Given the description of an element on the screen output the (x, y) to click on. 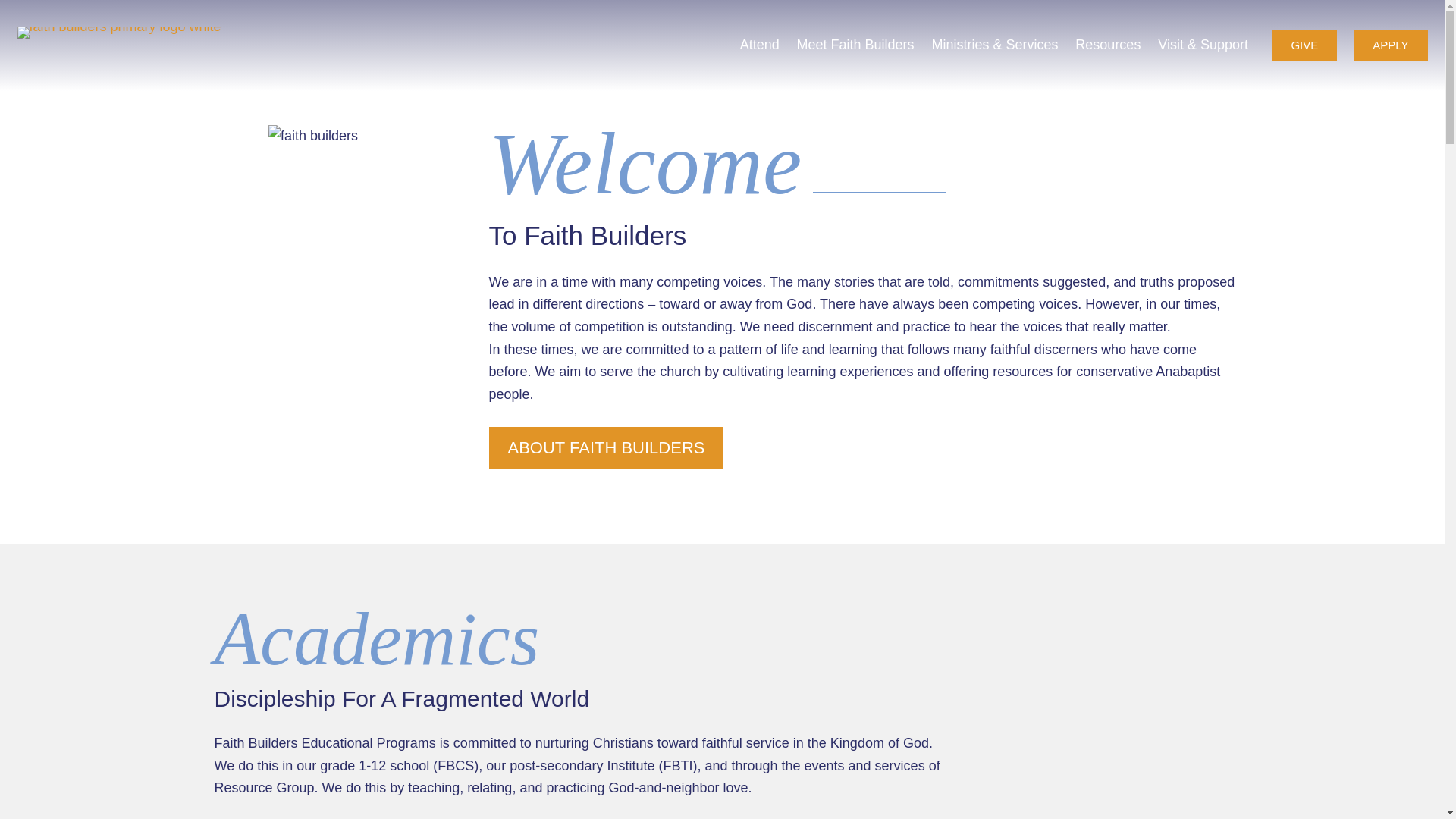
Skip to content (15, 7)
